Given the description of an element on the screen output the (x, y) to click on. 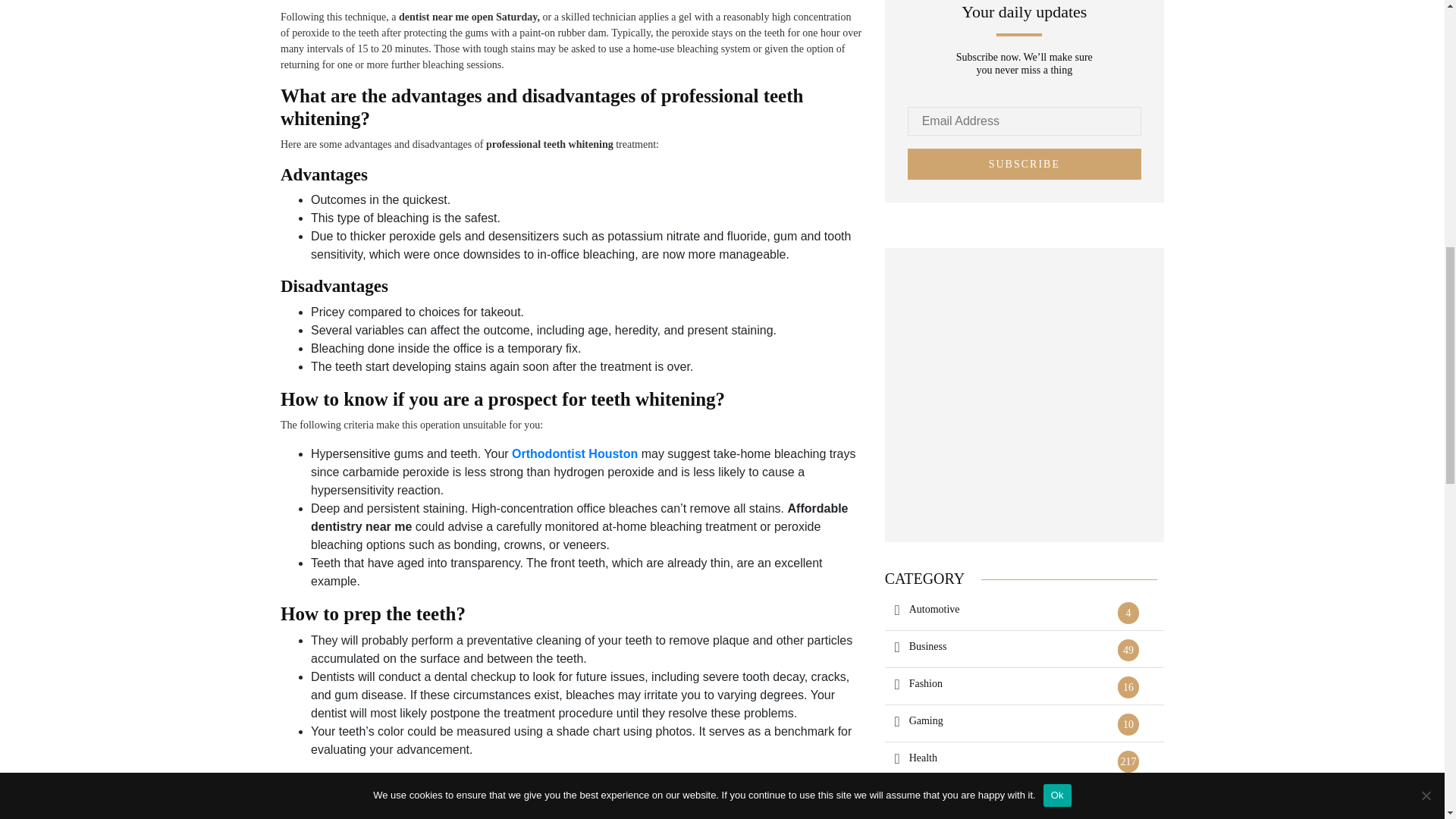
SUBSCRIBE (1024, 163)
